Given the description of an element on the screen output the (x, y) to click on. 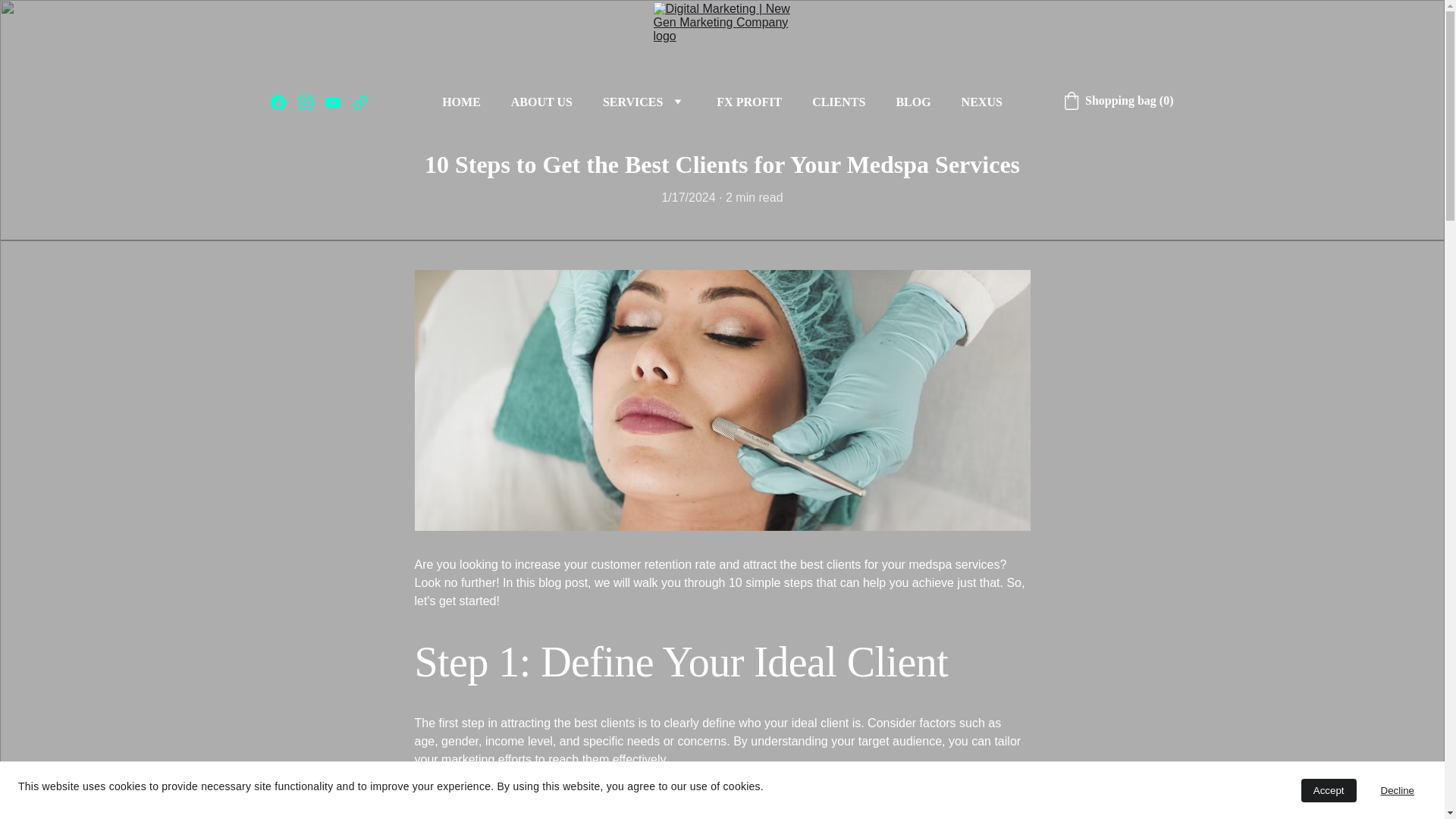
ABOUT US (541, 101)
FX PROFIT (748, 101)
BLOG (912, 101)
Go to cart (1117, 100)
SERVICES (632, 101)
CLIENTS (838, 101)
HOME (461, 101)
NEXUS (981, 101)
